Given the description of an element on the screen output the (x, y) to click on. 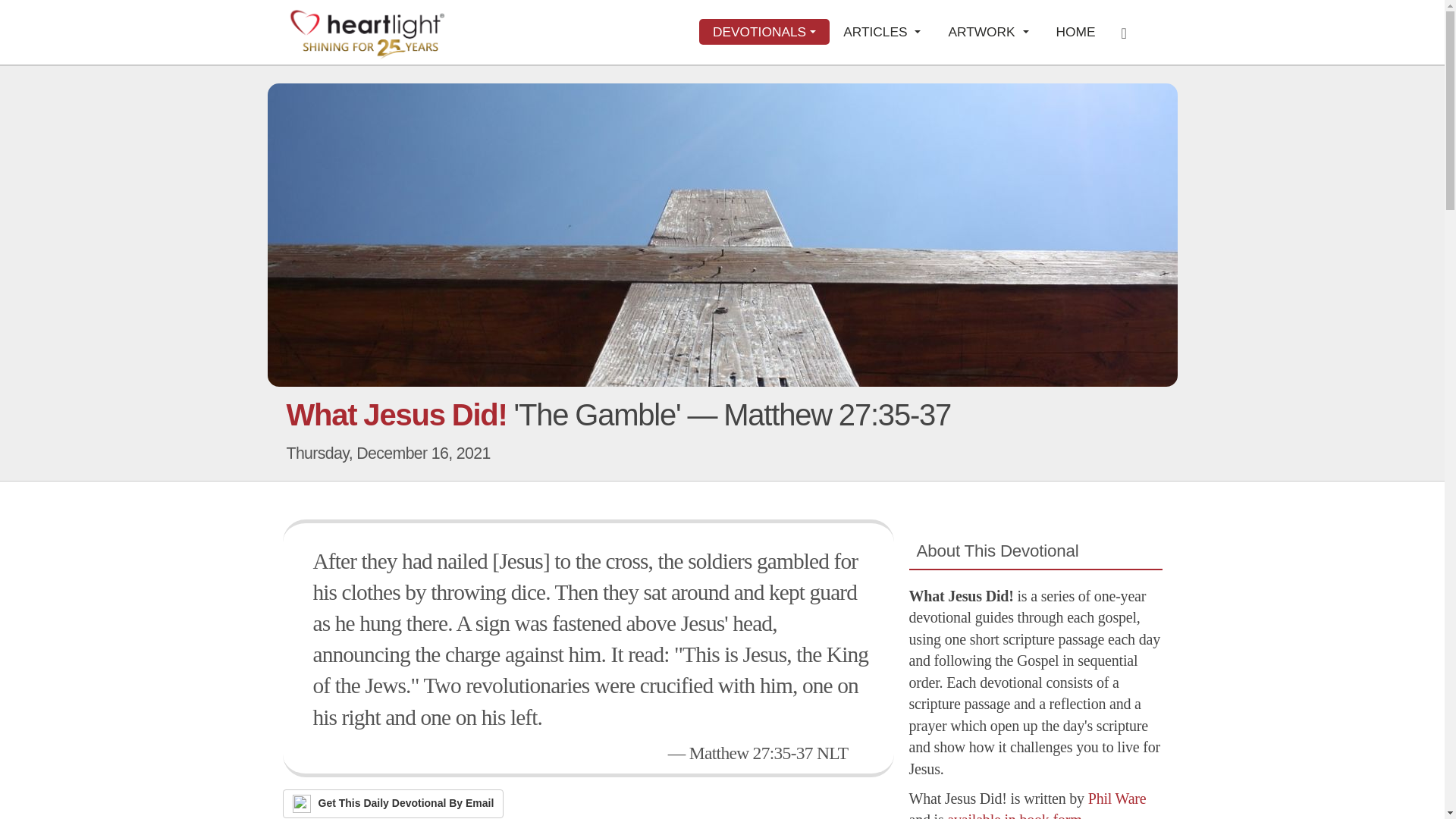
HOME (1075, 31)
ARTICLES (881, 31)
DEVOTIONALS (763, 31)
Heartlight - Home (367, 33)
Search Heartlight (1127, 32)
ARTWORK (988, 31)
